Given the description of an element on the screen output the (x, y) to click on. 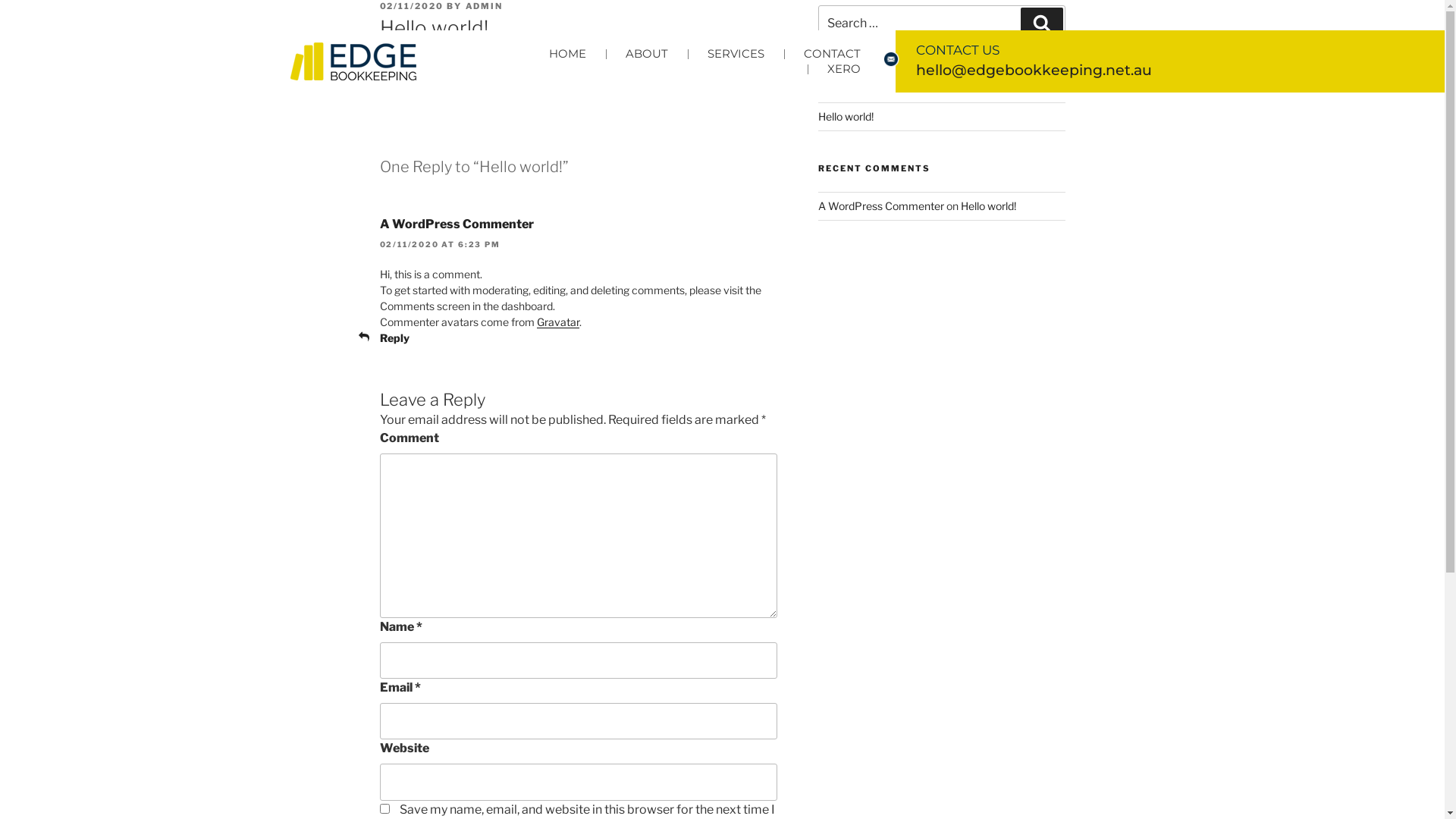
02/11/2020 Element type: text (411, 5)
CONTACT Element type: text (832, 53)
SERVICES Element type: text (735, 53)
Gravatar Element type: text (557, 321)
A WordPress Commenter Element type: text (456, 223)
ADMIN Element type: text (484, 5)
CONTACT US Element type: text (957, 49)
XERO Element type: text (842, 68)
HOME Element type: text (567, 53)
Reply Element type: text (393, 337)
02/11/2020 AT 6:23 PM Element type: text (439, 243)
hello@edgebookkeeping.net.au Element type: text (1033, 69)
ABOUT Element type: text (646, 53)
Hello world! Element type: text (988, 205)
Hello world! Element type: text (845, 115)
A WordPress Commenter Element type: text (881, 205)
